Given the description of an element on the screen output the (x, y) to click on. 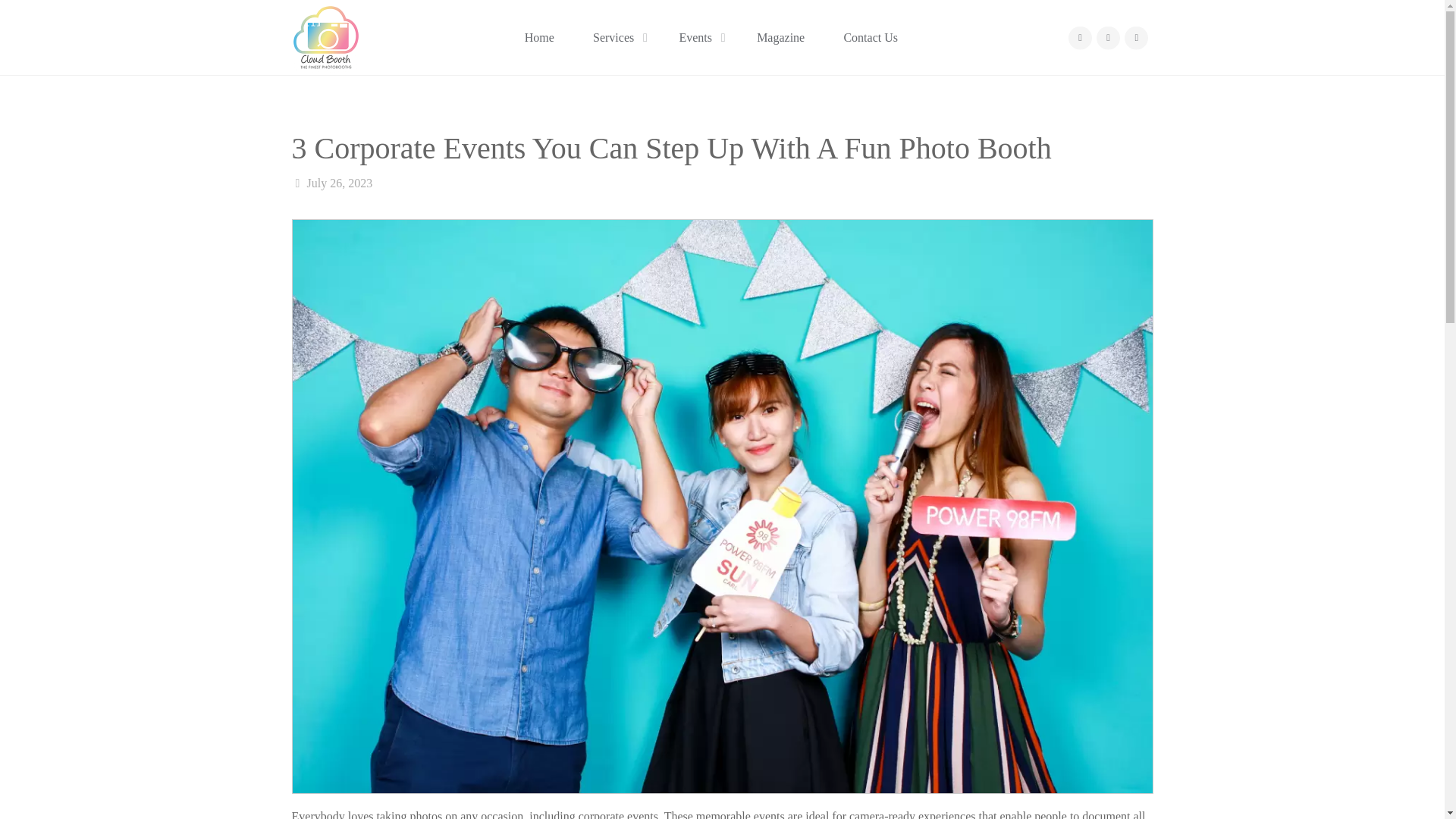
Contact Us (870, 38)
Home (539, 38)
Date (296, 182)
Magazine (781, 38)
Services (616, 38)
Events (698, 38)
Cloud Booth Photo Booth (325, 37)
